Given the description of an element on the screen output the (x, y) to click on. 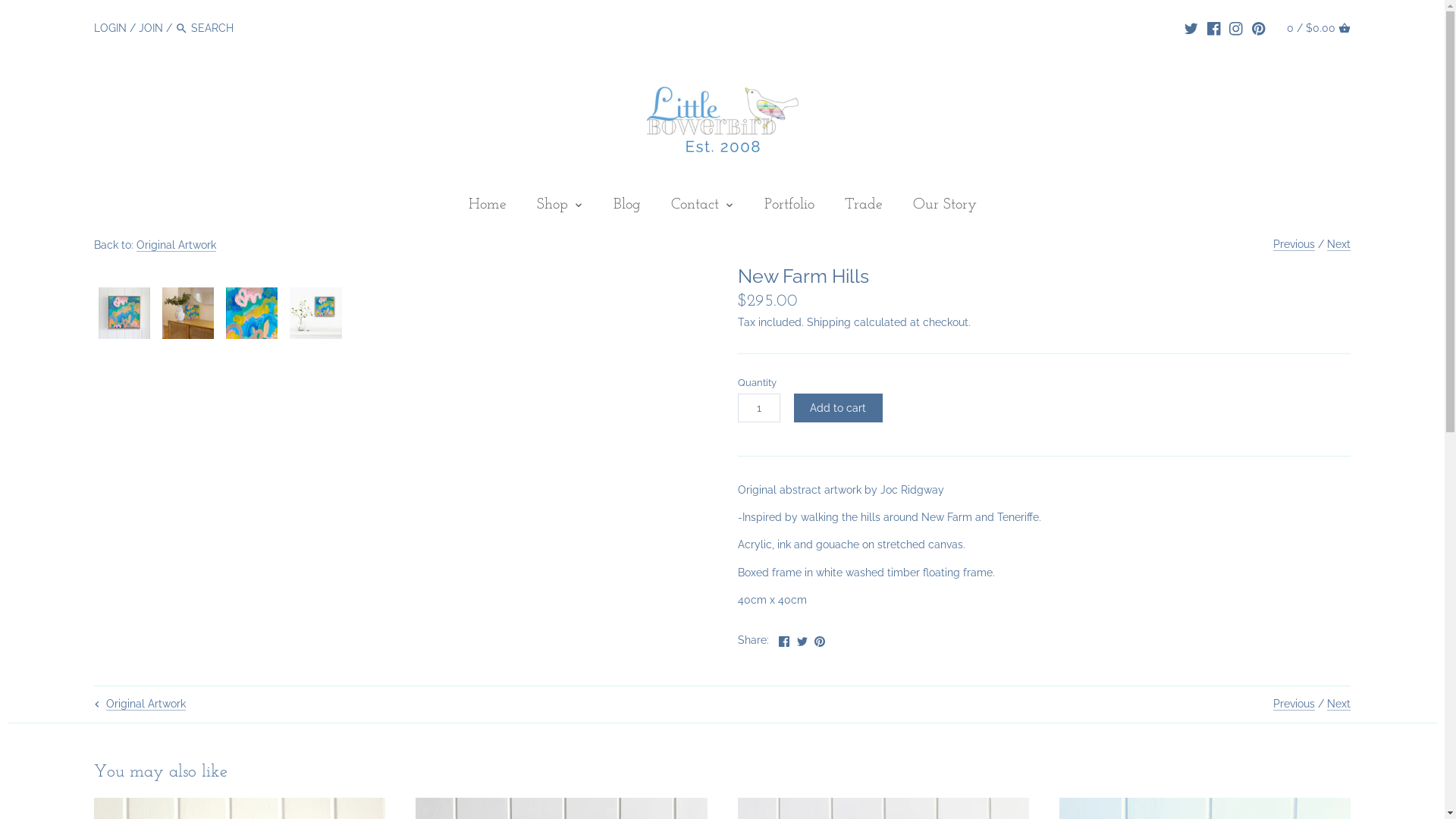
Previous Element type: text (1293, 703)
Our Story Element type: text (944, 207)
Original Artwork Element type: text (176, 244)
Add to cart Element type: text (837, 408)
LOGIN Element type: text (110, 27)
Blog Element type: text (626, 207)
Pinterest
Pin the main image Element type: text (819, 638)
Contact Element type: text (694, 207)
Next Element type: text (1338, 703)
Trade Element type: text (863, 207)
0 / $0.00 CART Element type: text (1318, 27)
Previous Element type: text (1293, 244)
INSTAGRAM Element type: text (1235, 26)
Shop Element type: text (552, 207)
Facebook
Share on Facebook Element type: text (783, 638)
FACEBOOK Element type: text (1213, 26)
Search Element type: text (181, 28)
TWITTER Element type: text (1191, 26)
Shipping Element type: text (828, 322)
JOIN Element type: text (150, 27)
PINTEREST Element type: text (1258, 26)
Next Element type: text (1338, 244)
Portfolio Element type: text (789, 207)
Left Original Artwork Element type: text (138, 704)
Twitter
Share on Twitter Element type: text (802, 638)
Home Element type: text (487, 207)
